Given the description of an element on the screen output the (x, y) to click on. 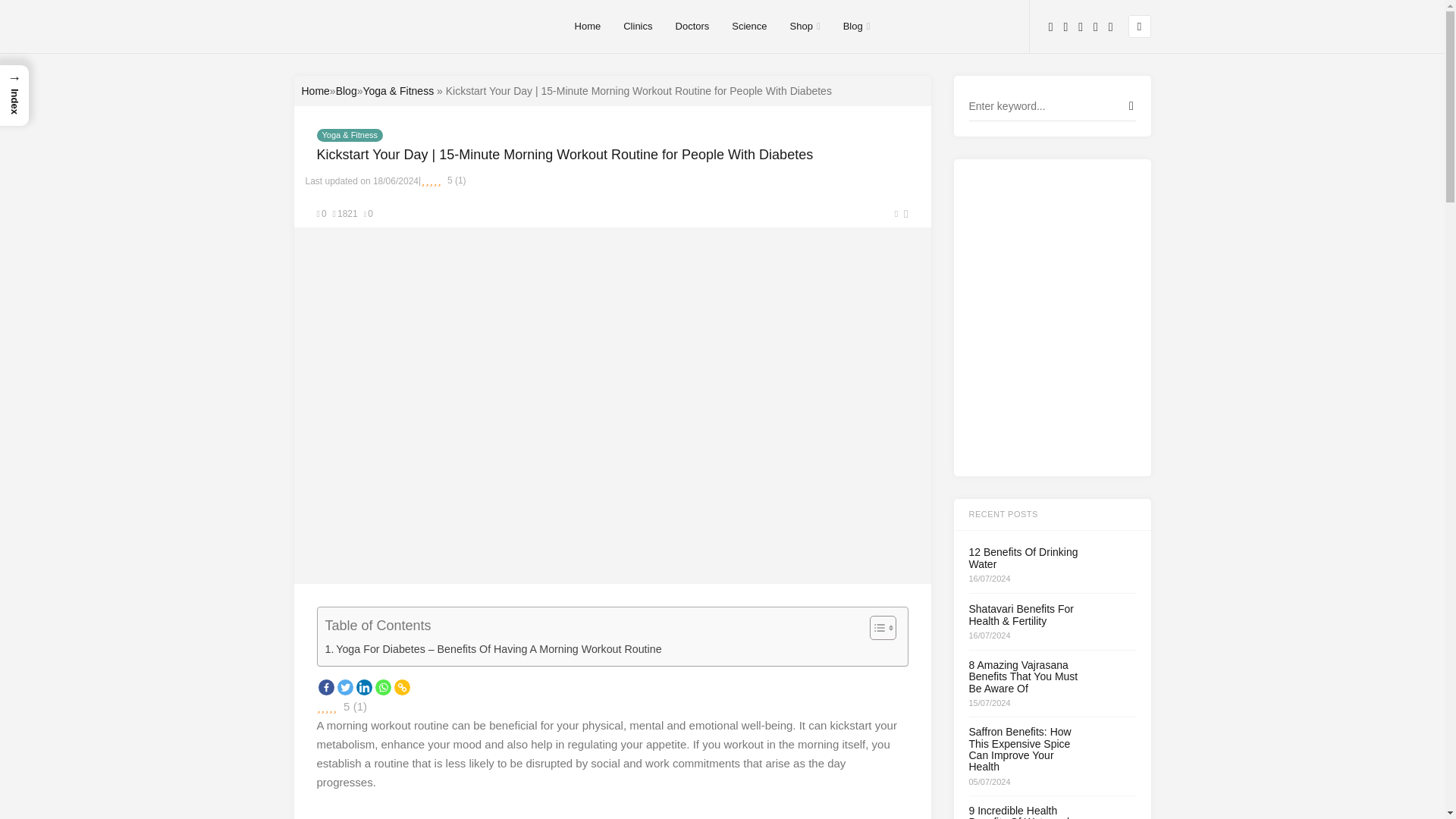
Home (315, 91)
Twitter (344, 687)
Facebook (326, 687)
1821 (345, 213)
Whatsapp (382, 687)
Linkedin (364, 687)
Copy Link (402, 687)
Blog (346, 91)
0 (368, 213)
0 (321, 213)
